Given the description of an element on the screen output the (x, y) to click on. 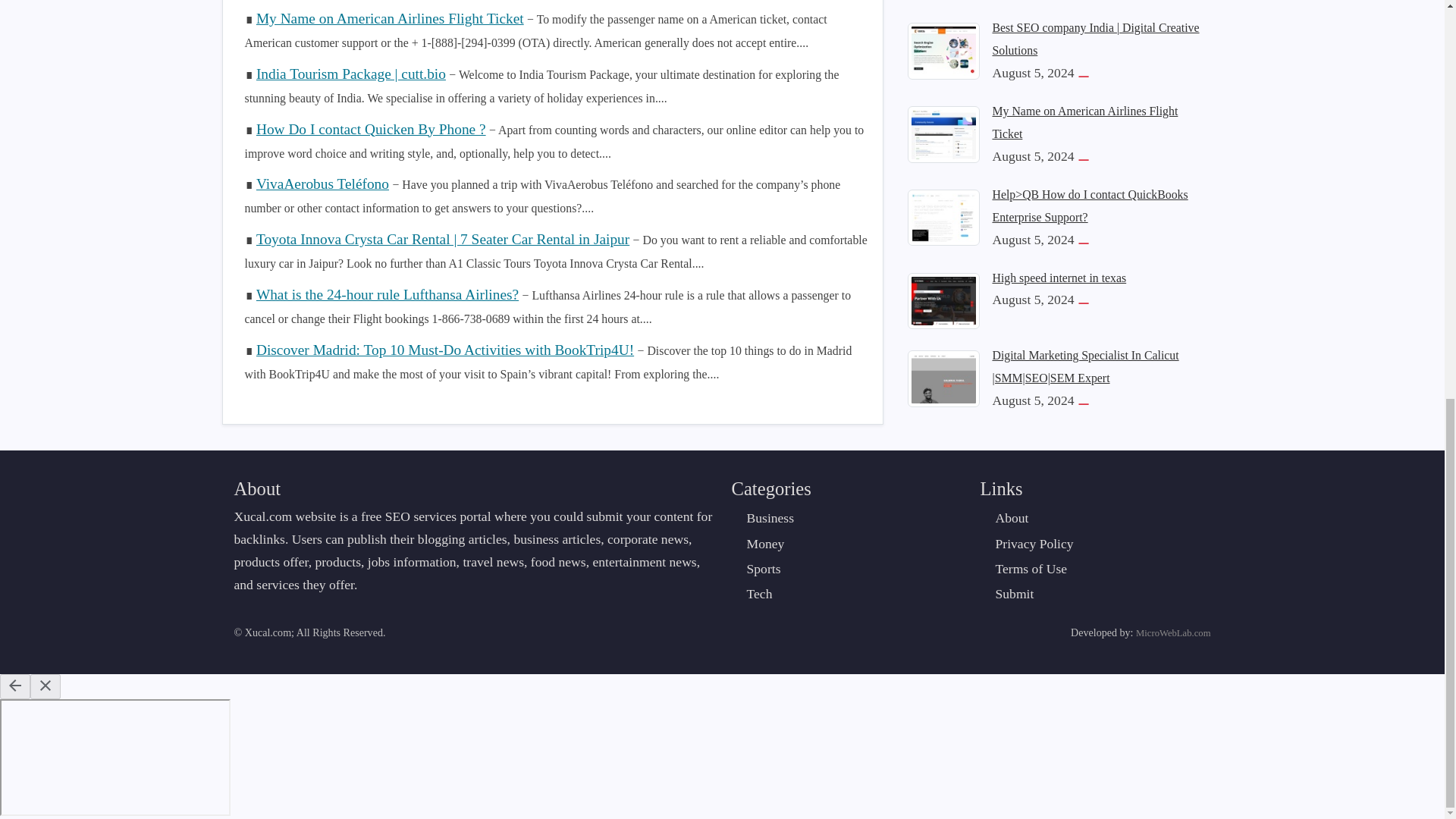
Discover Madrid: Top 10 Must-Do Activities with BookTrip4U! (444, 349)
How Do I contact Quicken By Phone ? (371, 129)
My Name on American Airlines Flight Ticket (390, 18)
Discover Madrid: Top 10 Must-Do Activities with BookTrip4U! (444, 349)
What is the 24-hour rule Lufthansa Airlines? (387, 294)
What is the 24-hour rule Lufthansa Airlines? (387, 294)
My Name on American Airlines Flight Ticket (390, 18)
How Do I contact Quicken By Phone ? (371, 129)
